Given the description of an element on the screen output the (x, y) to click on. 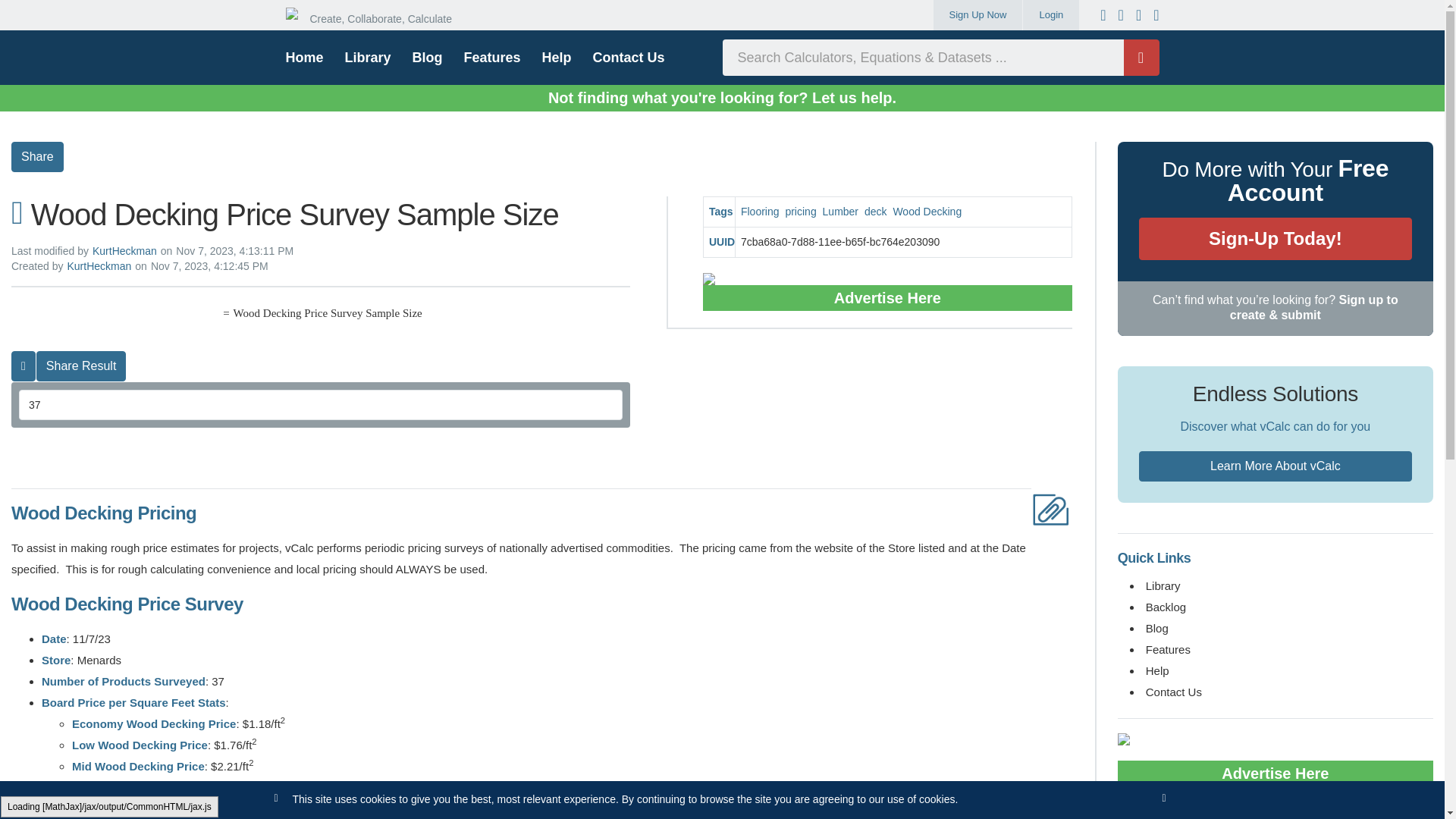
Home (375, 15)
37 (320, 404)
Sign Up Now (978, 15)
Create, Collaborate, Calculate (375, 15)
Login (1050, 15)
